Given the description of an element on the screen output the (x, y) to click on. 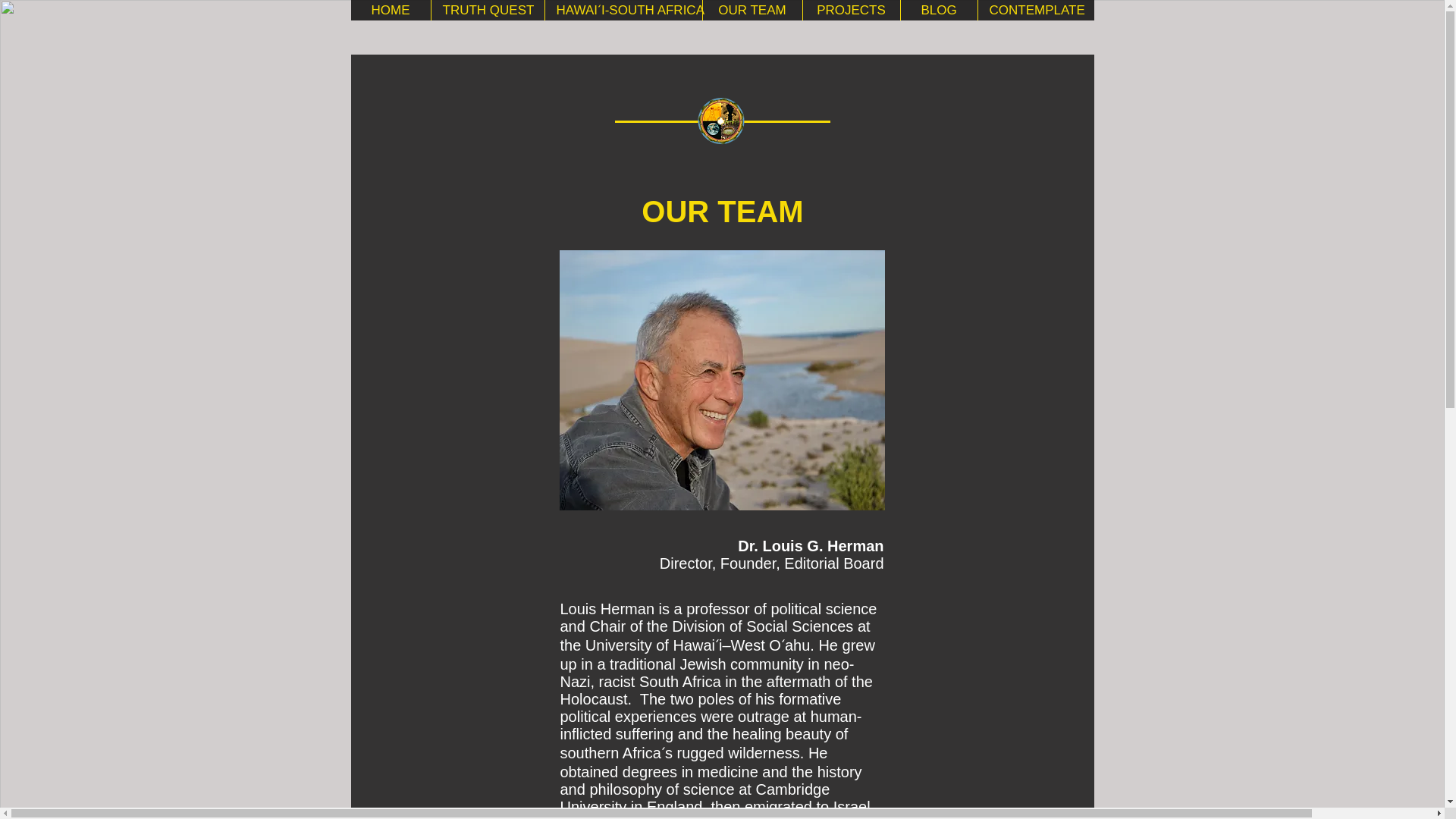
CONTEMPLATE (1034, 10)
PROJECTS (850, 10)
TRUTH QUEST (487, 10)
BLOG (937, 10)
HOME (389, 10)
OUR TEAM (751, 10)
